Given the description of an element on the screen output the (x, y) to click on. 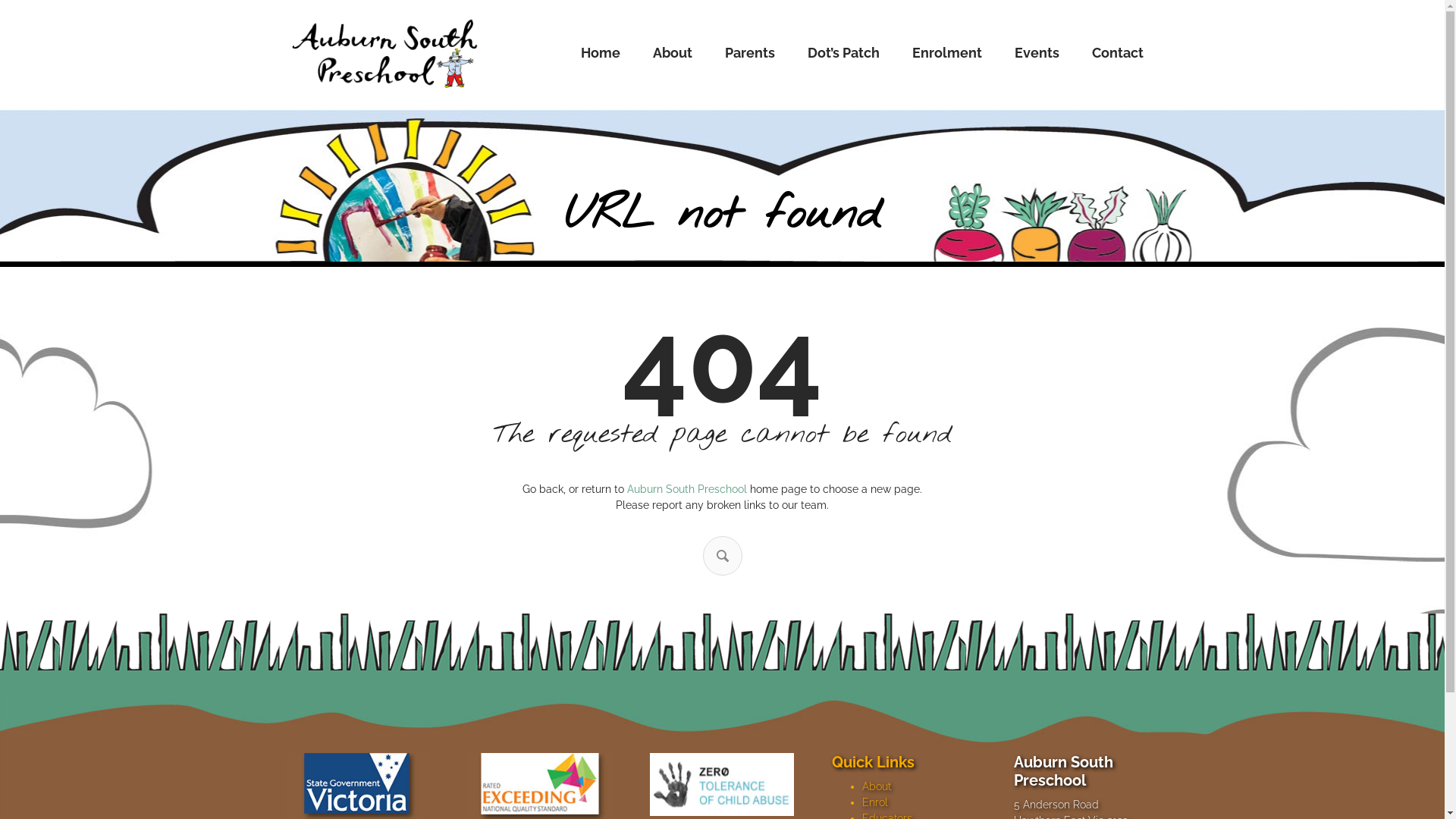
Events Element type: text (1036, 52)
About Element type: text (876, 786)
Search Element type: hover (722, 555)
Contact Element type: text (1117, 52)
Home Element type: text (600, 52)
Enrolment Element type: text (946, 52)
Enrol Element type: text (875, 802)
About Element type: text (671, 52)
Auburn South Preschool Element type: text (686, 489)
Parents Element type: text (749, 52)
